Given the description of an element on the screen output the (x, y) to click on. 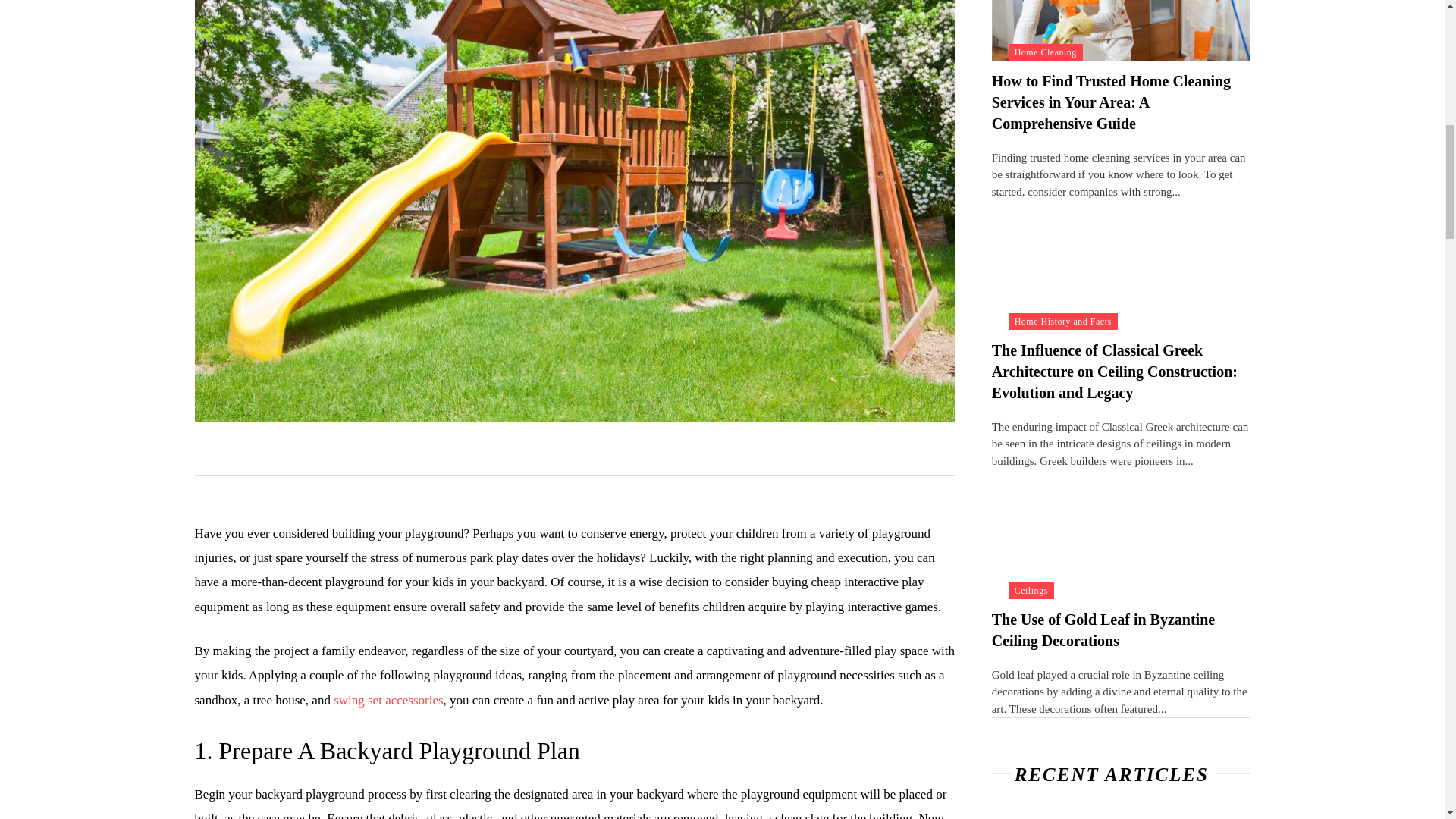
The Use of Gold Leaf in Byzantine Ceiling Decorations (1120, 533)
The Use of Gold Leaf in Byzantine Ceiling Decorations (1102, 629)
